Given the description of an element on the screen output the (x, y) to click on. 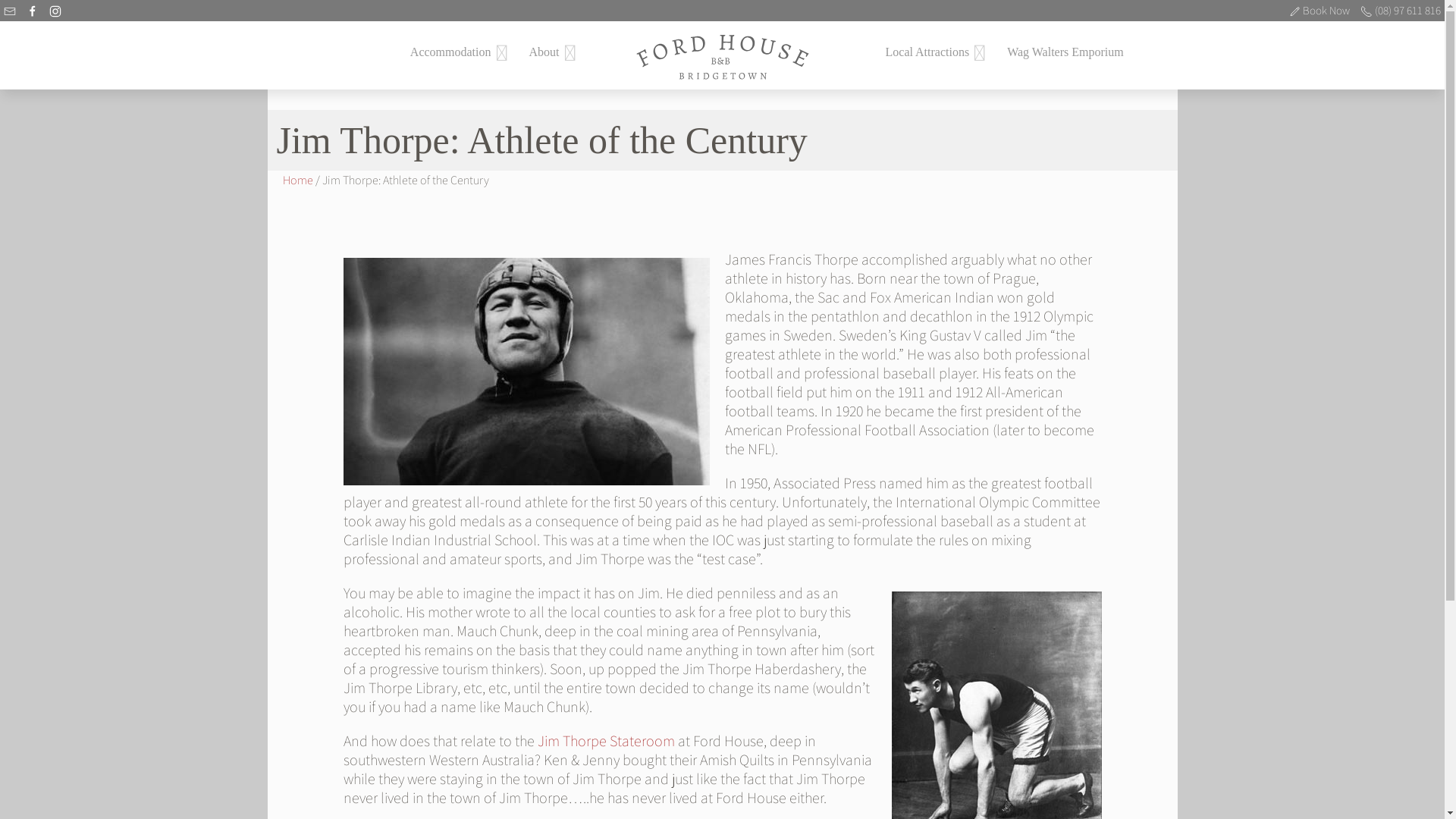
Wag Walters Emporium Element type: text (1065, 51)
Jim Thorpe Stateroom Element type: text (605, 740)
Home Element type: text (22, 9)
About Element type: text (543, 51)
Local Attractions Element type: text (927, 51)
Home Element type: text (297, 180)
Accommodation Element type: text (450, 51)
